Given the description of an element on the screen output the (x, y) to click on. 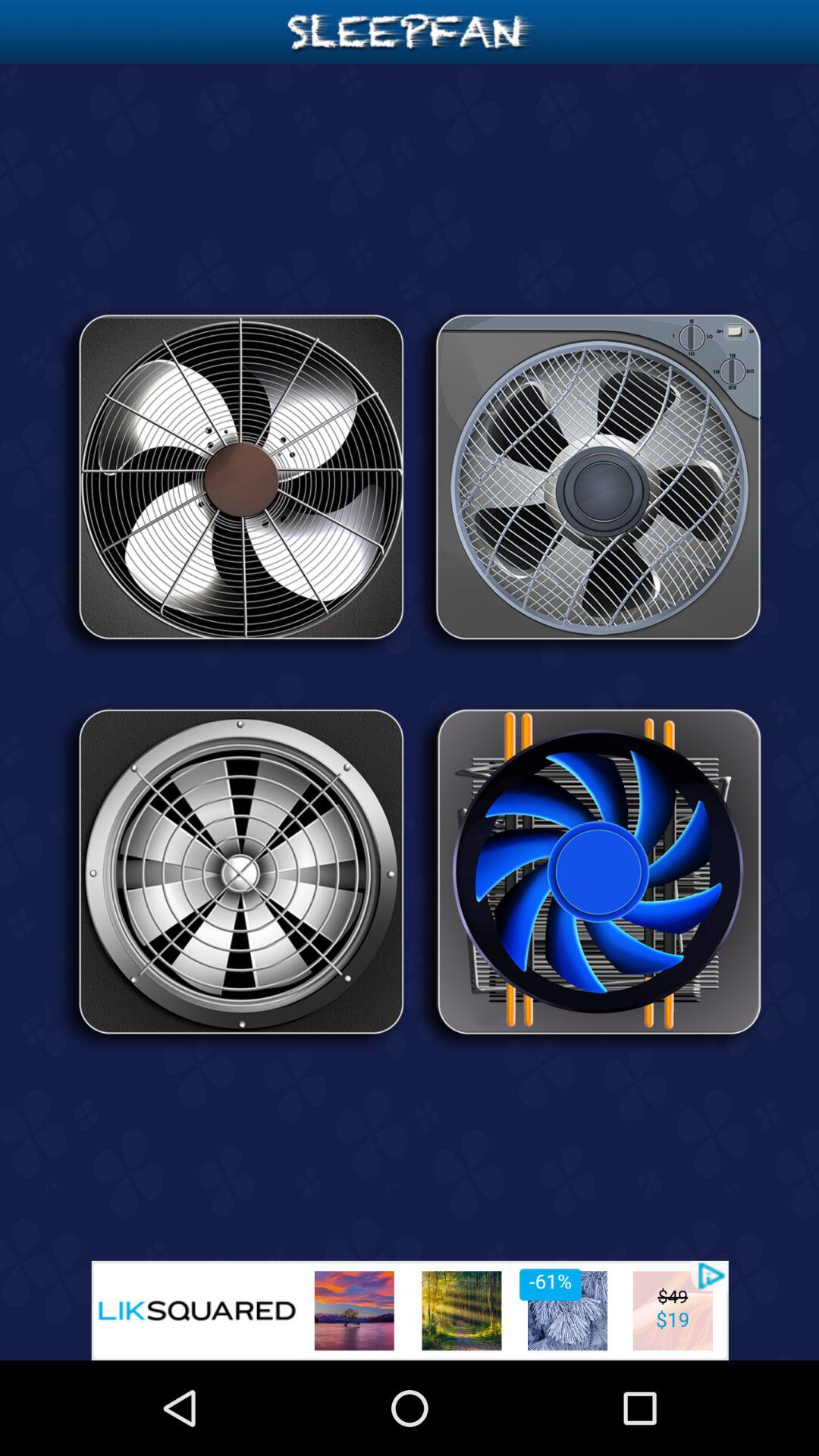
open advertisement (409, 1310)
